Given the description of an element on the screen output the (x, y) to click on. 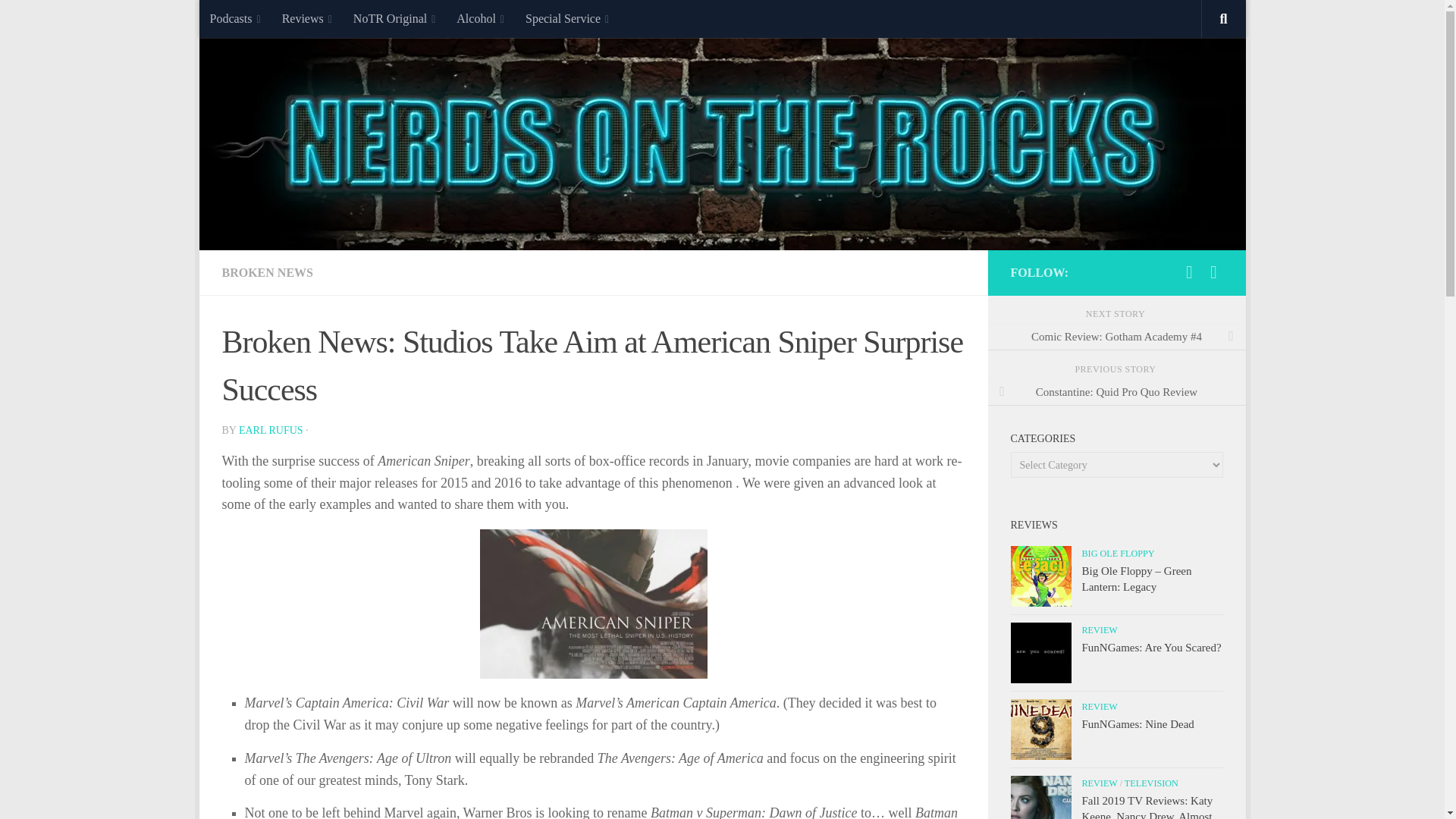
Skip to content (258, 20)
Follow us on Facebook-square (1213, 271)
Follow us on Twitter-square (1188, 271)
Posts by Earl Rufus (270, 430)
